Given the description of an element on the screen output the (x, y) to click on. 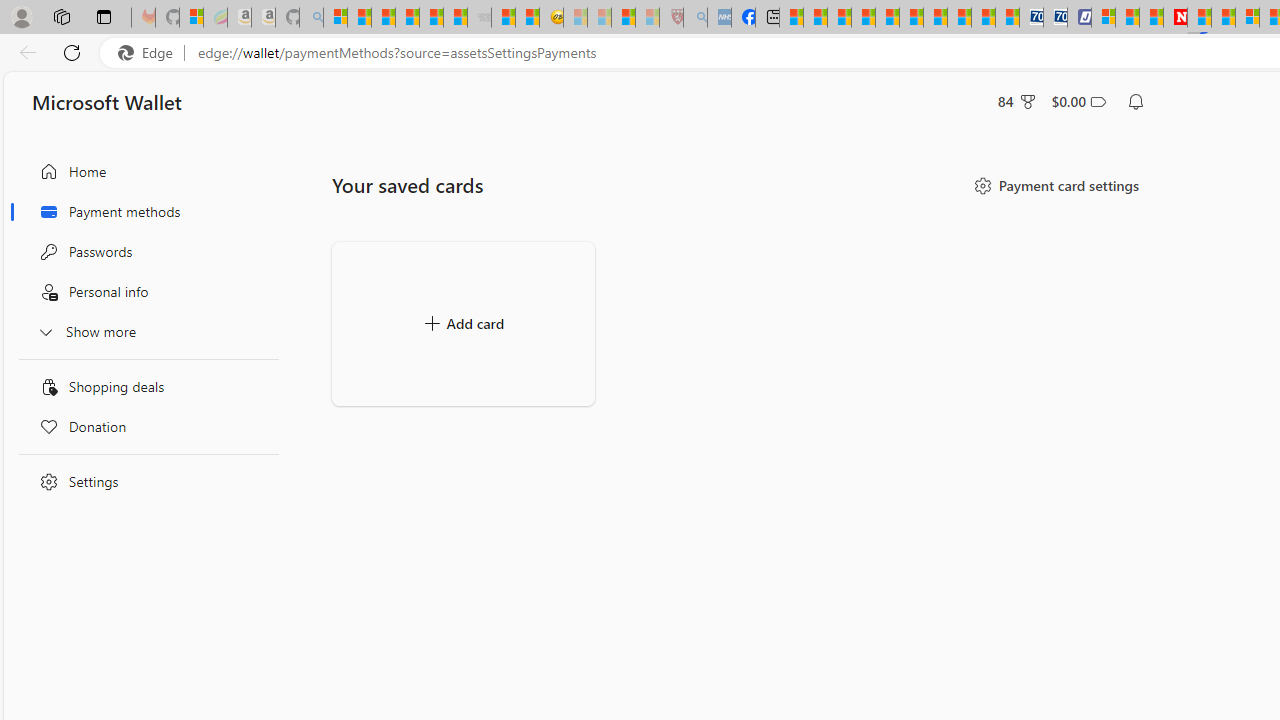
Newsweek - News, Analysis, Politics, Business, Technology (1174, 17)
Add card (463, 323)
